Given the description of an element on the screen output the (x, y) to click on. 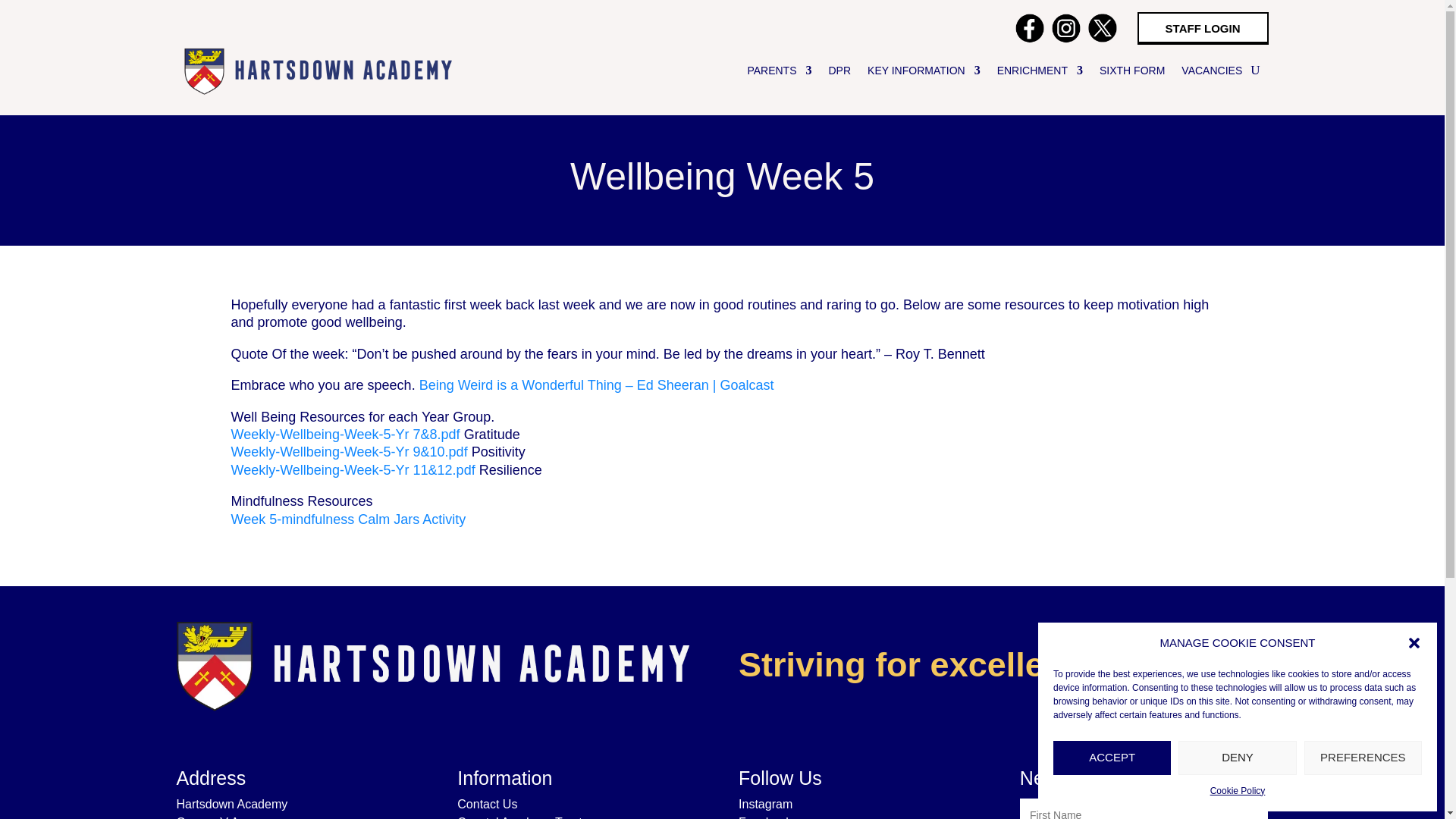
PARENTS (778, 70)
ACCEPT (1111, 757)
PREFERENCES (1363, 757)
Cookie Policy (1237, 791)
KEY INFORMATION (923, 70)
DENY (1236, 757)
Frame 2110 (430, 664)
